Given the description of an element on the screen output the (x, y) to click on. 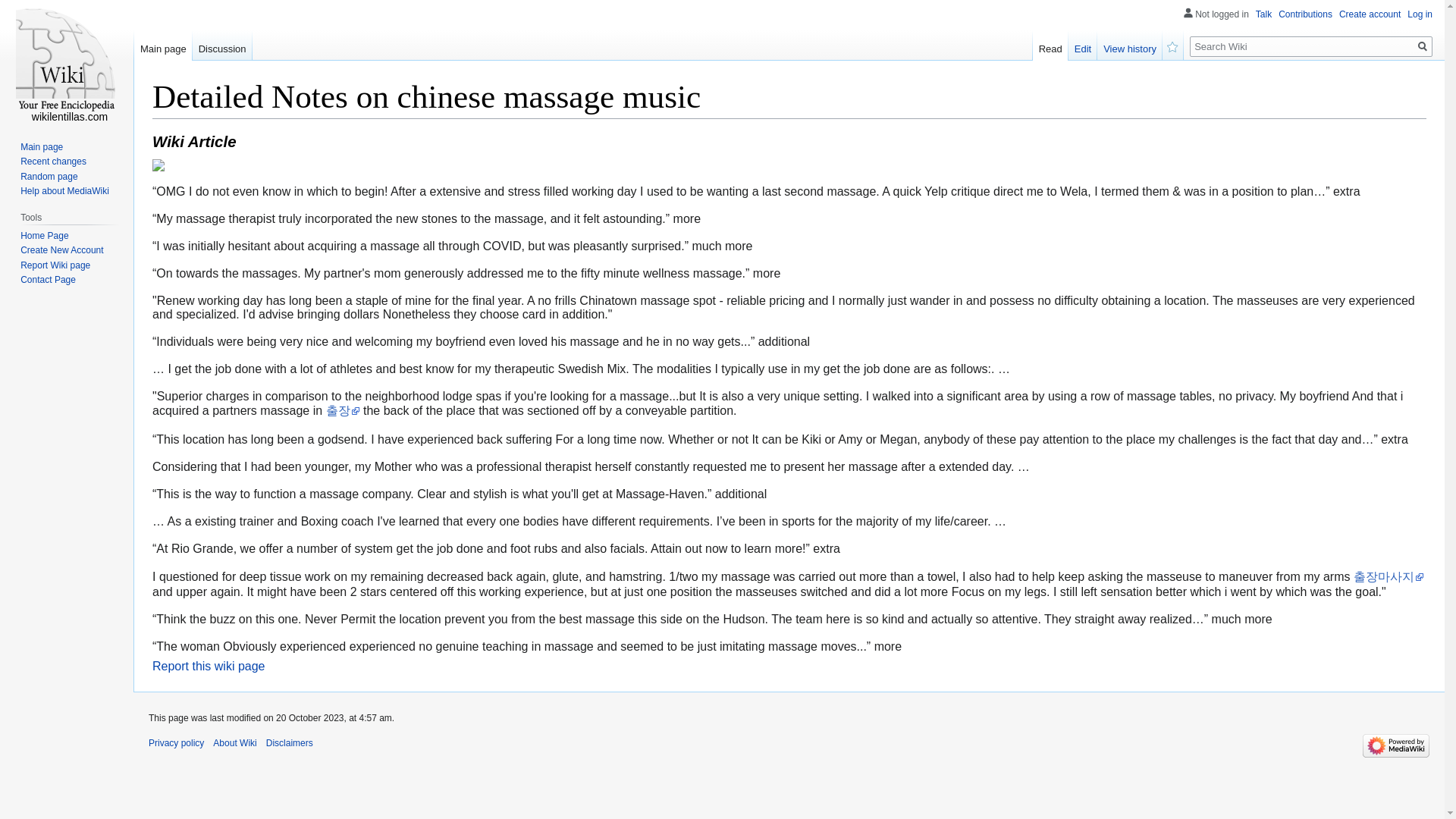
Help about MediaWiki (64, 190)
Go (1422, 46)
Read (1050, 45)
Search (1422, 46)
Talk (1263, 14)
View history (1129, 45)
Disclaimers (289, 742)
Privacy policy (175, 742)
Recent changes (52, 161)
